Given the description of an element on the screen output the (x, y) to click on. 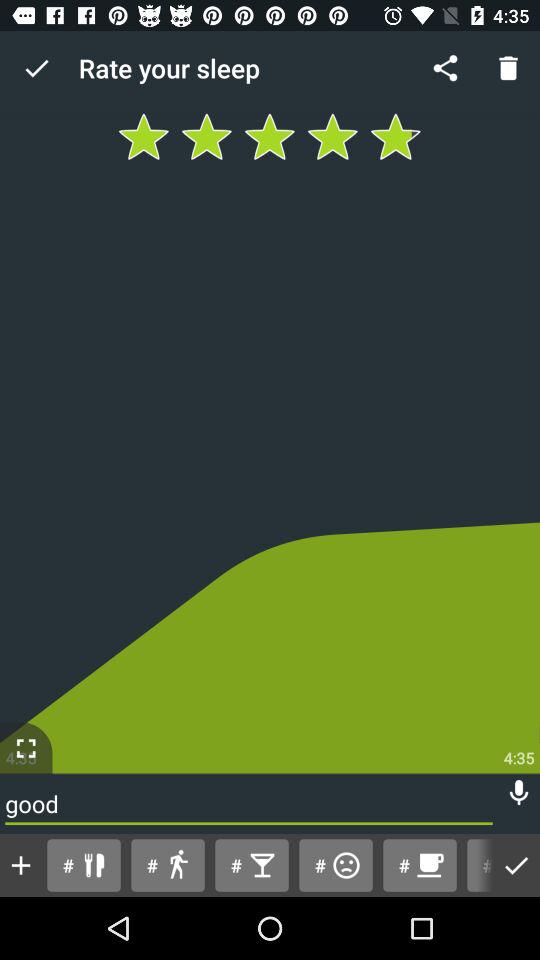
click the good icon (248, 803)
